Given the description of an element on the screen output the (x, y) to click on. 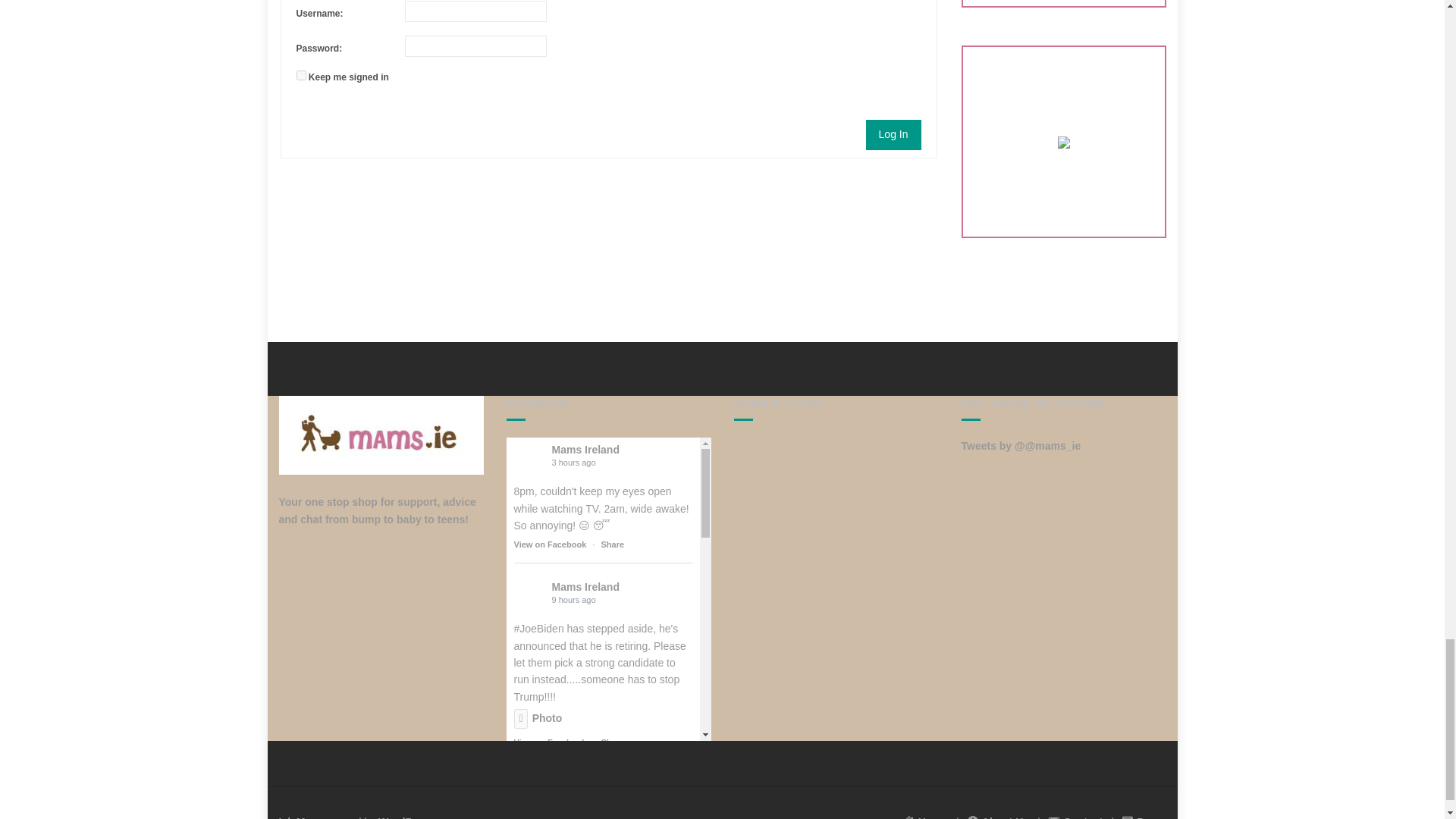
forever (300, 75)
